Given the description of an element on the screen output the (x, y) to click on. 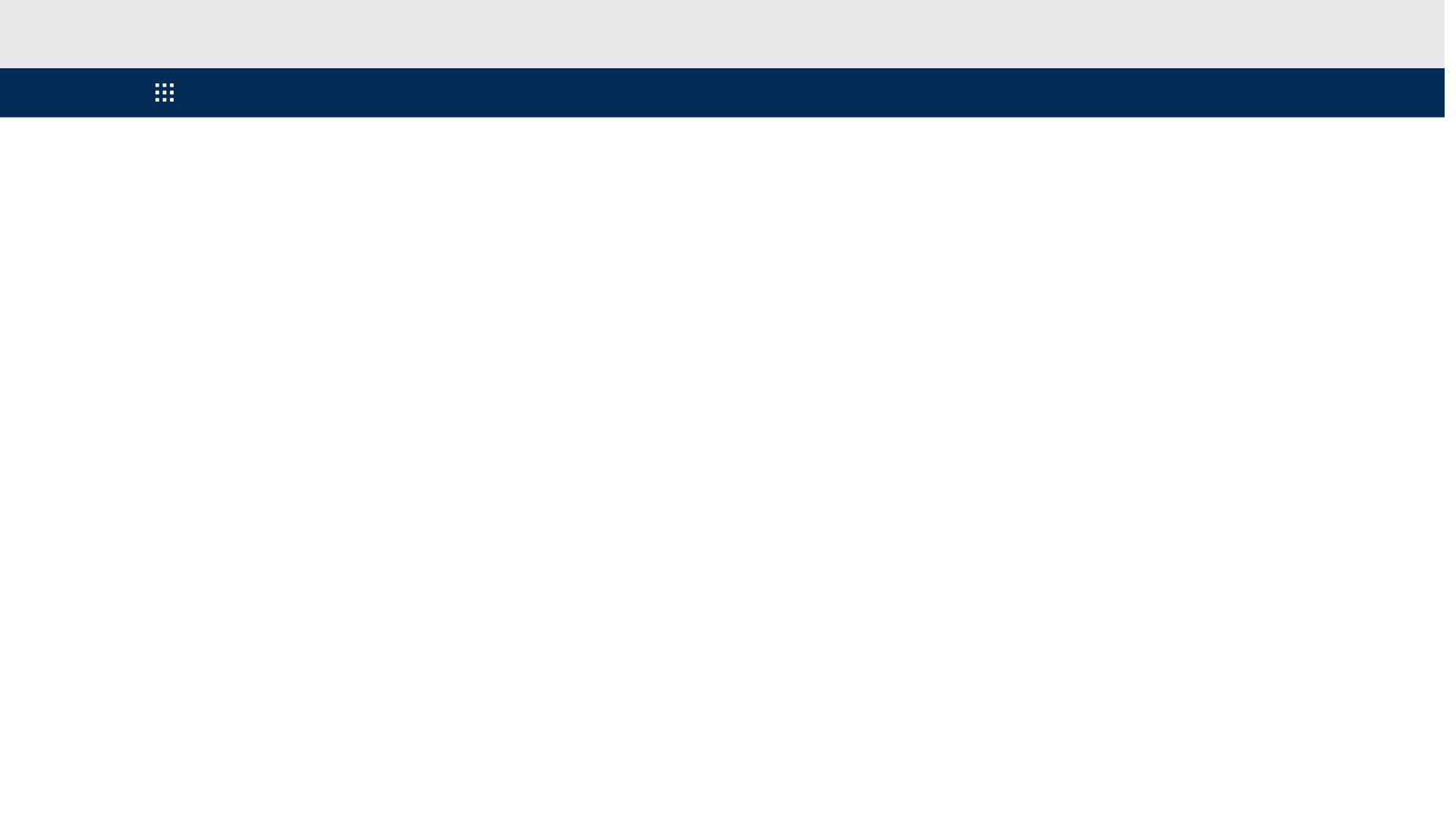
All Sports Menu (163, 92)
